Given the description of an element on the screen output the (x, y) to click on. 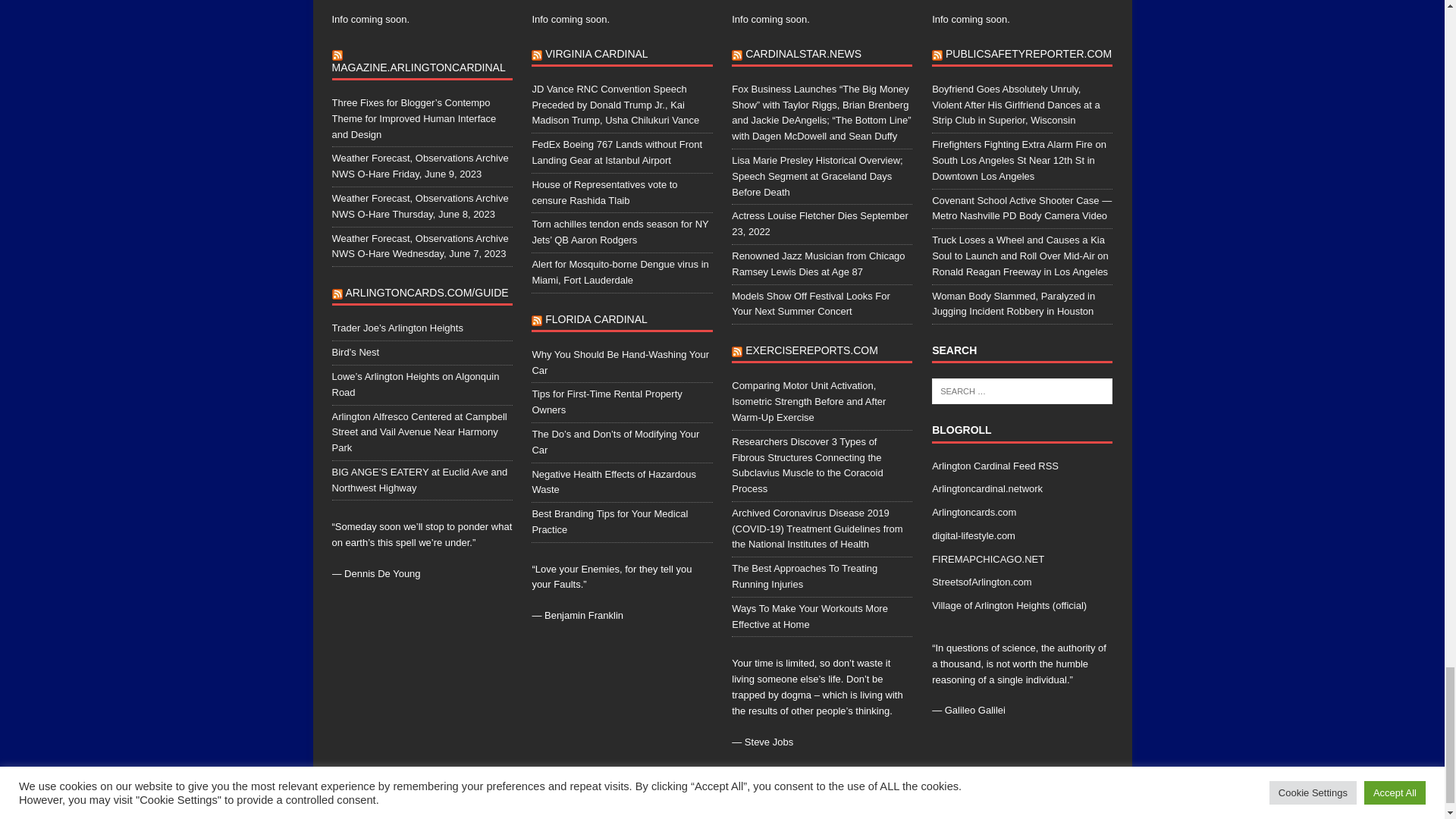
Local Directory (973, 511)
